Given the description of an element on the screen output the (x, y) to click on. 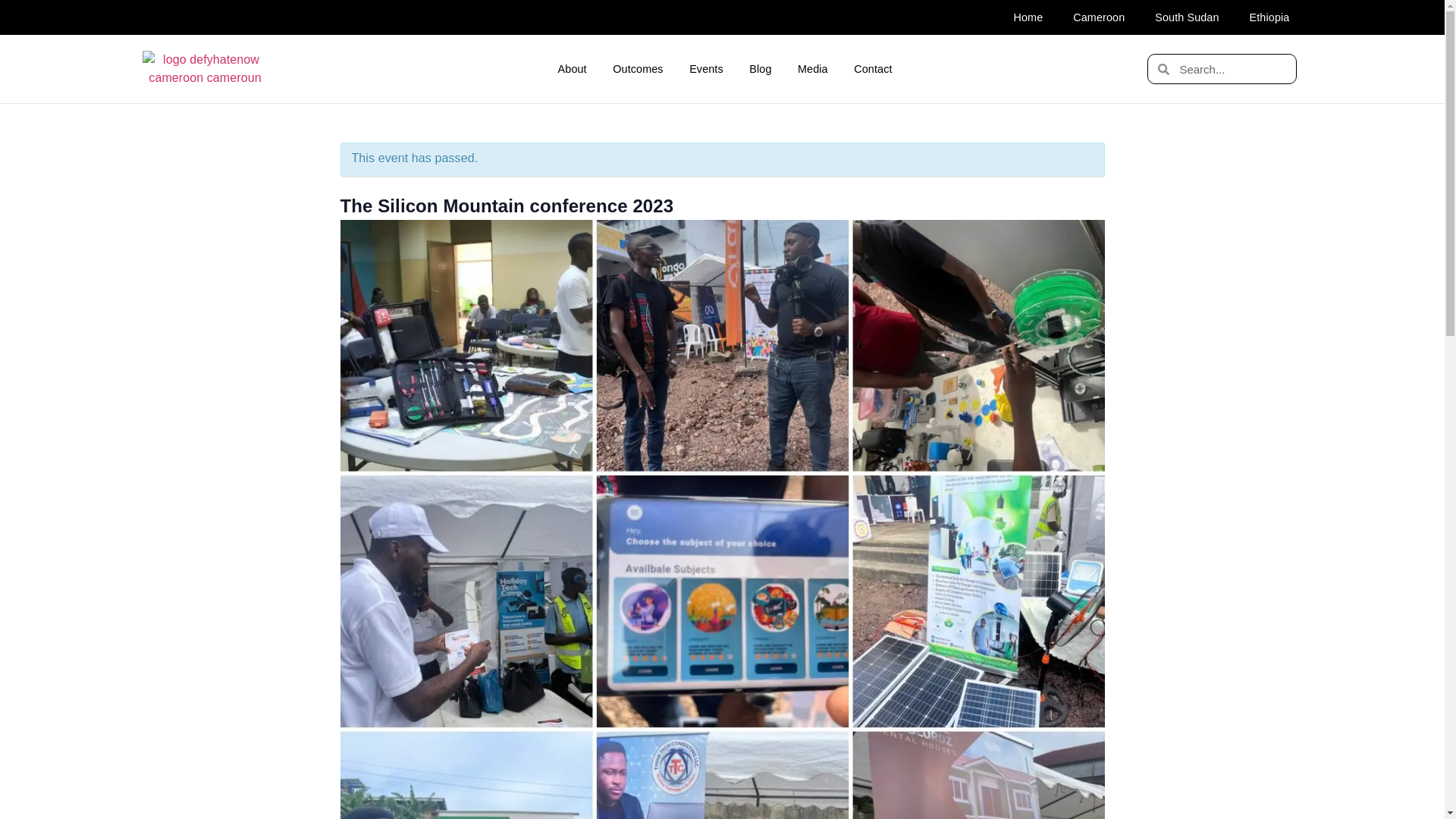
Home (1027, 17)
Media (812, 68)
Contact (873, 68)
About (571, 68)
Events (706, 68)
Cameroon (1099, 17)
Outcomes (638, 68)
logo defyhatenow cameroon cameroun (204, 68)
Blog (760, 68)
Ethiopia (1269, 17)
